Given the description of an element on the screen output the (x, y) to click on. 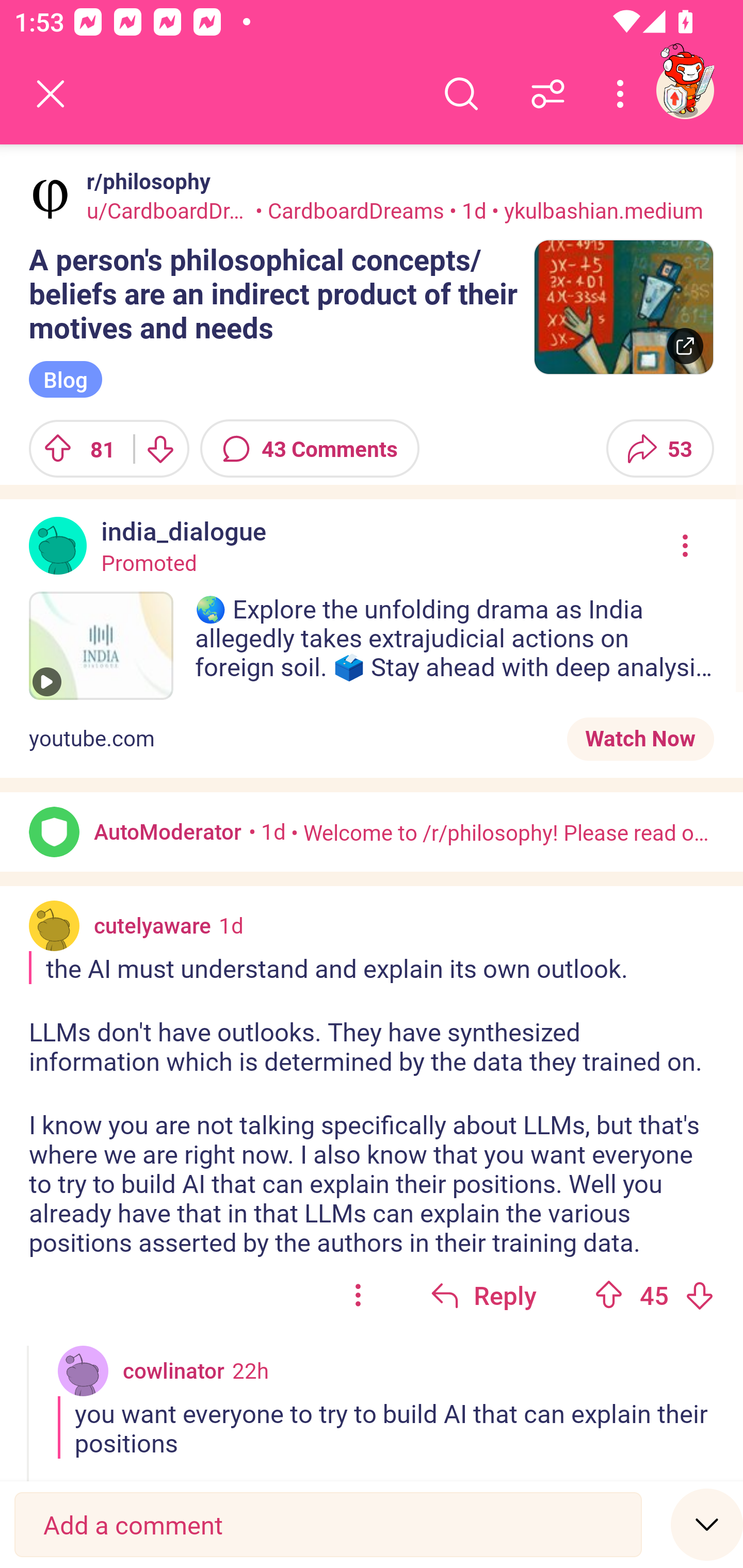
Back (50, 93)
TestAppium002 account (685, 90)
Search comments (460, 93)
Sort comments (547, 93)
More options (623, 93)
r/philosophy (144, 181)
Avatar (50, 196)
u/CardboardDreams (168, 210)
 • ykulbashian.medium (594, 210)
Thumbnail image (623, 306)
Blog (65, 379)
Upvote 81 (73, 448)
Downvote (158, 448)
43 Comments (309, 448)
Share 53 (660, 448)
Avatar (53, 831)
• 1d (267, 830)
Avatar (53, 925)
1d (230, 925)
options (358, 1295)
Reply (483, 1295)
Upvote 45 45 votes Downvote (654, 1295)
Upvote (608, 1295)
Downvote (699, 1295)
Avatar (82, 1370)
22h (249, 1369)
Speed read (706, 1524)
Add a comment (327, 1524)
